Given the description of an element on the screen output the (x, y) to click on. 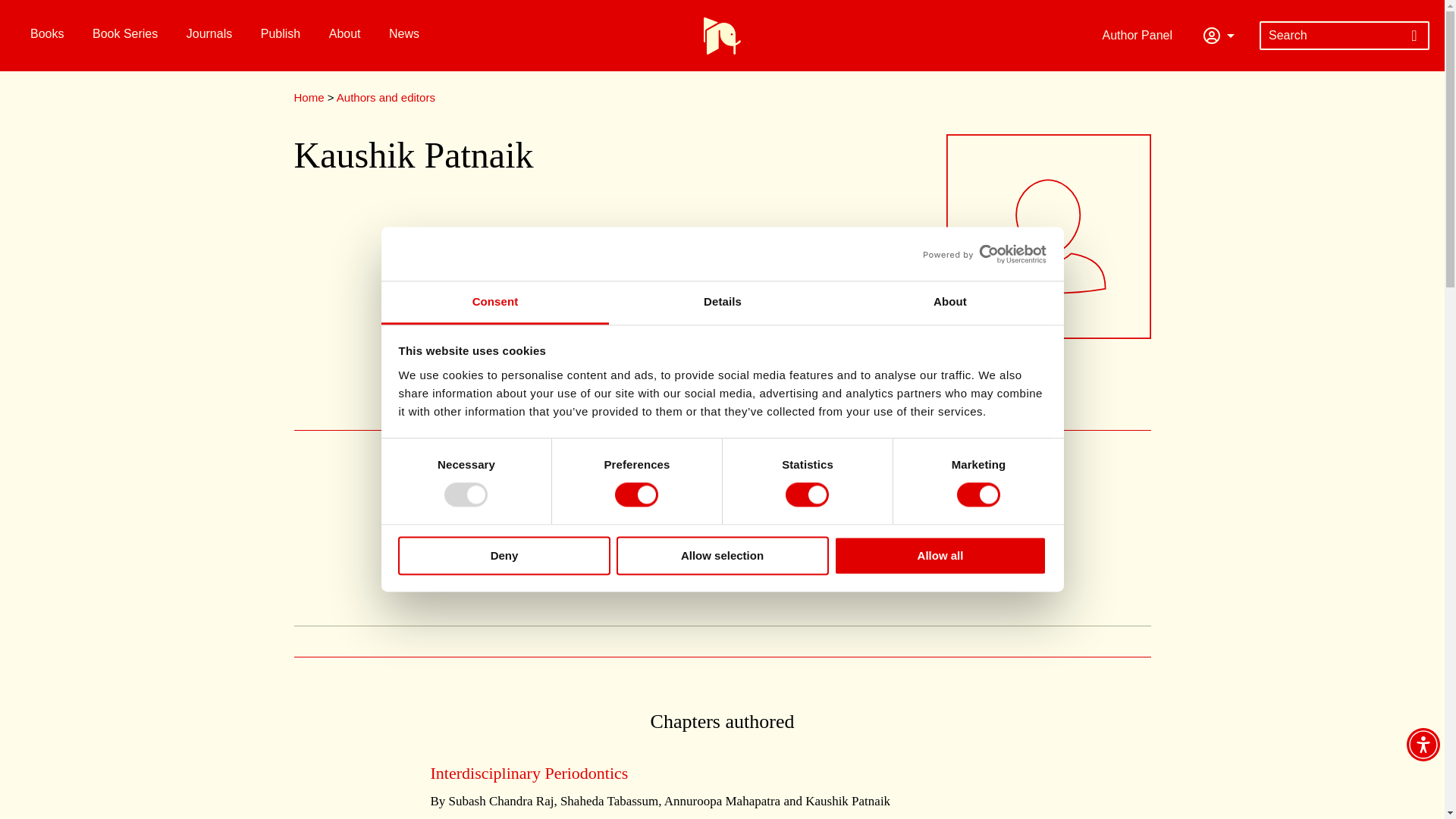
Accessibility Menu (1422, 744)
Details (721, 302)
Consent (494, 302)
About (948, 302)
